Given the description of an element on the screen output the (x, y) to click on. 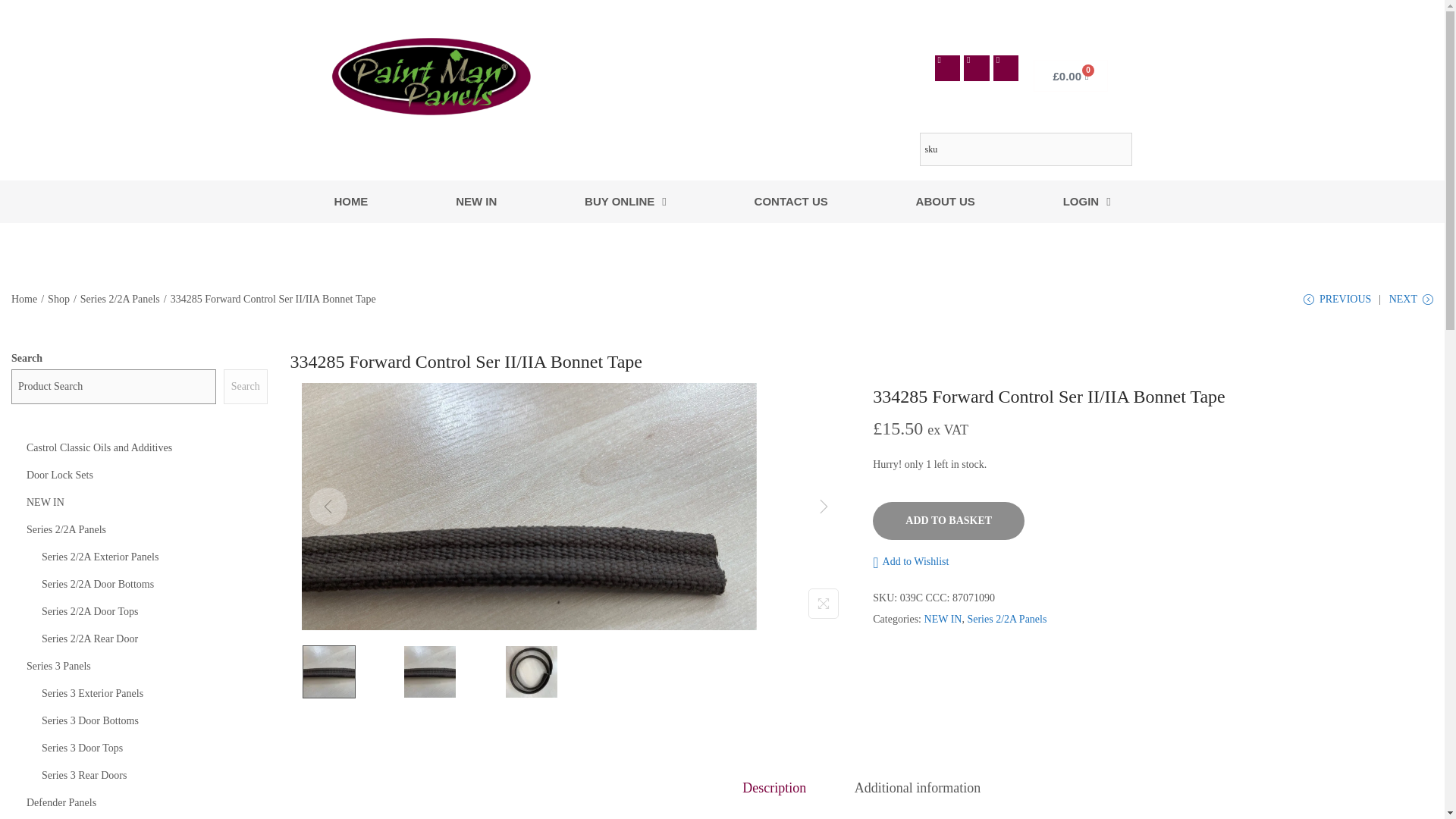
PREVIOUS (1337, 305)
LOGIN (1086, 201)
Home (24, 298)
HOME (350, 201)
NEXT (1410, 305)
Shop (58, 298)
CONTACT US (791, 201)
BUY ONLINE (625, 201)
ABOUT US (945, 201)
NEW IN (476, 201)
